Given the description of an element on the screen output the (x, y) to click on. 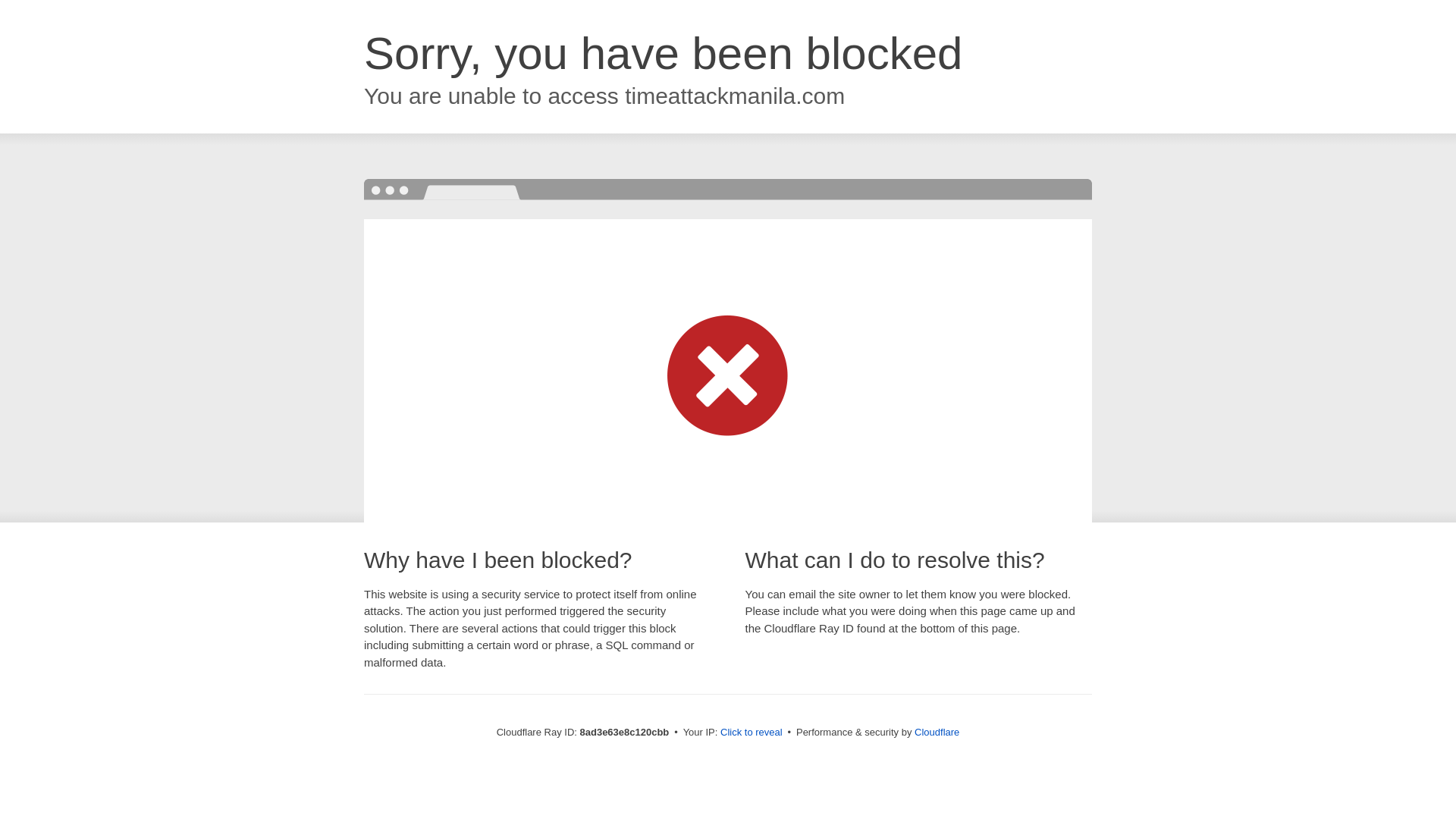
Click to reveal (751, 732)
Cloudflare (936, 731)
